Given the description of an element on the screen output the (x, y) to click on. 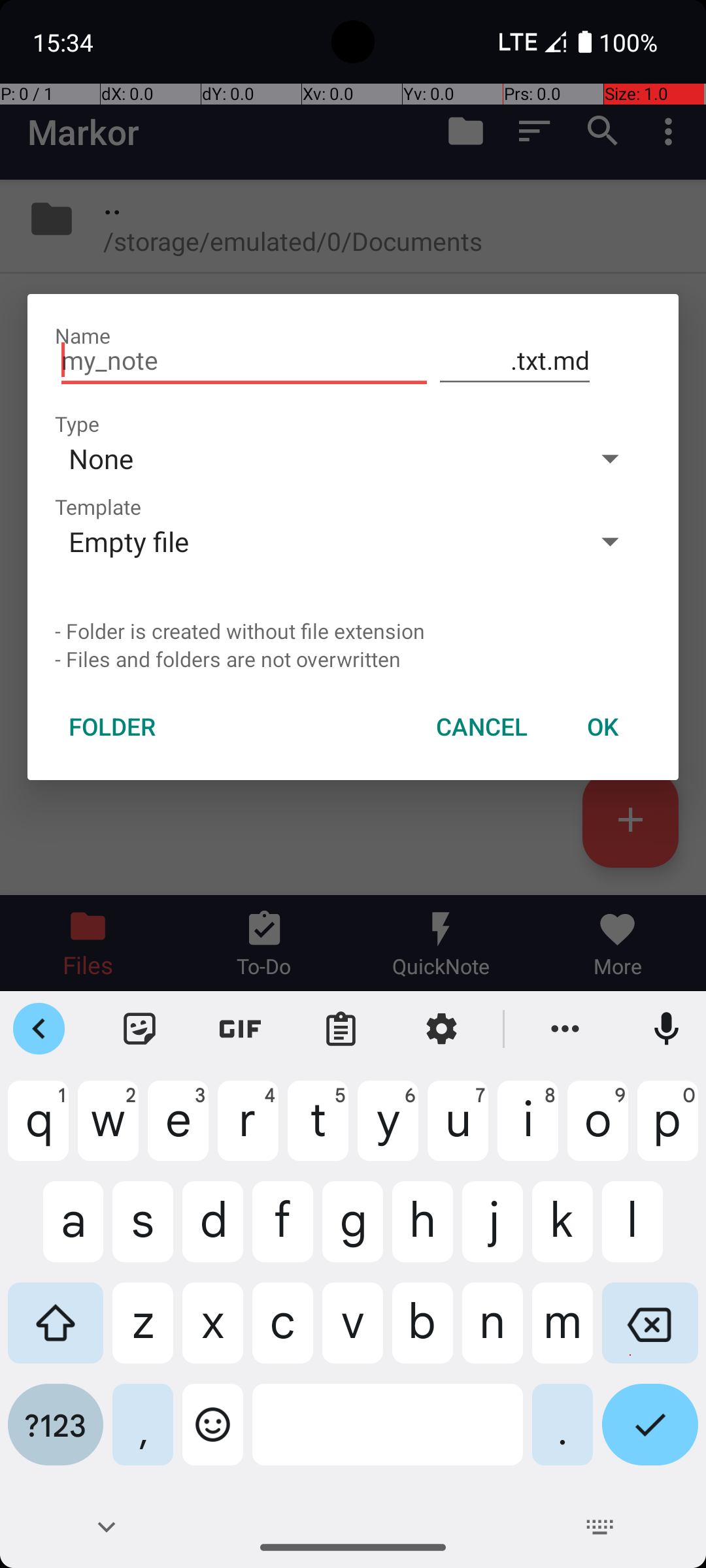
.txt.md Element type: android.widget.EditText (514, 360)
